Given the description of an element on the screen output the (x, y) to click on. 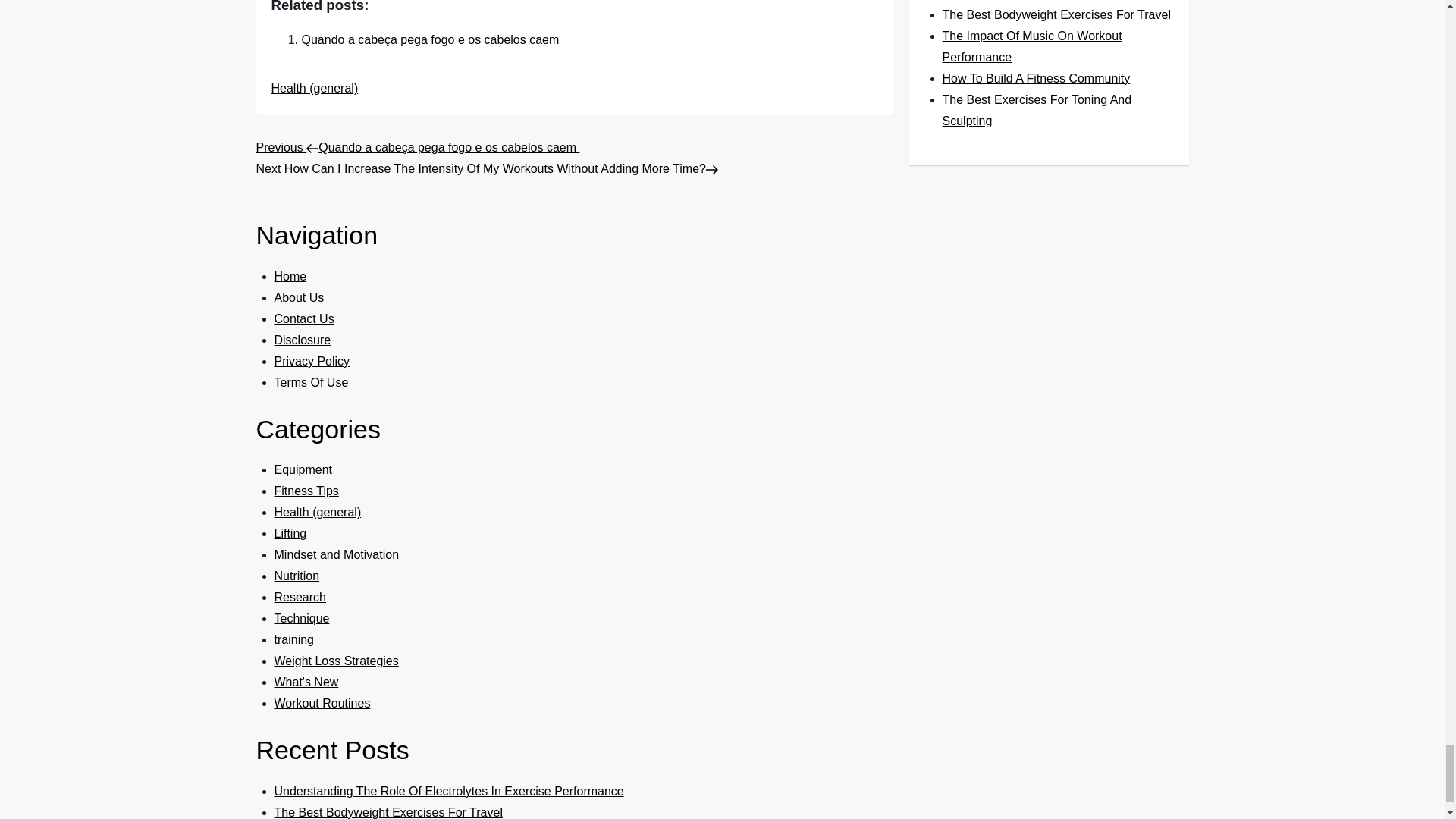
Terms Of Use (312, 382)
About Us (299, 297)
Privacy Policy (312, 360)
Home (291, 276)
Contact Us (304, 318)
Equipment (304, 469)
Disclosure (303, 339)
Lifting (291, 533)
Fitness Tips (307, 490)
